Given the description of an element on the screen output the (x, y) to click on. 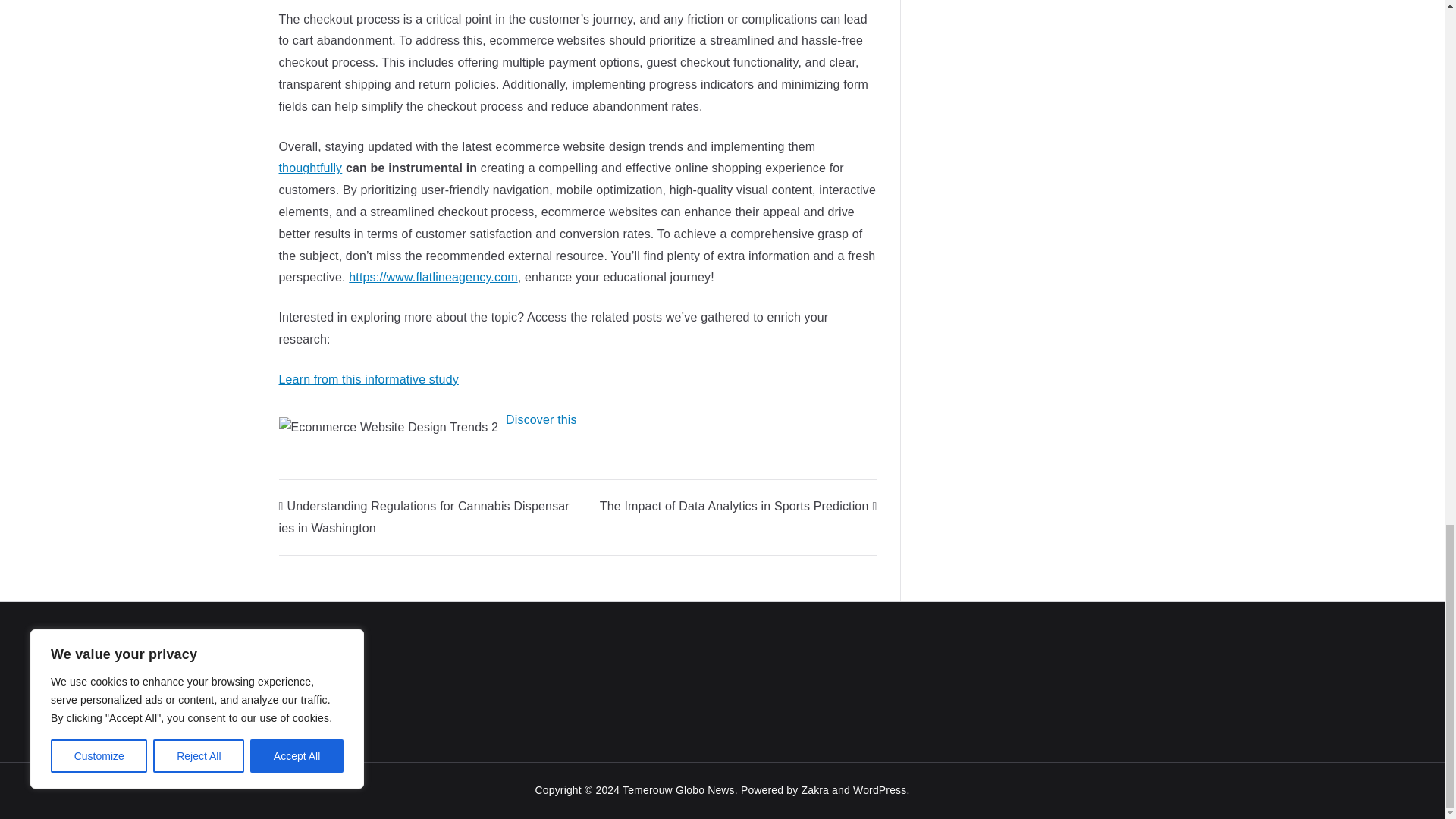
Zakra (814, 789)
WordPress (879, 789)
Learn from this informative study (368, 379)
thoughtfully (310, 167)
Discover this (540, 419)
Temerouw Globo News (679, 789)
The Impact of Data Analytics in Sports Prediction (738, 505)
